Given the description of an element on the screen output the (x, y) to click on. 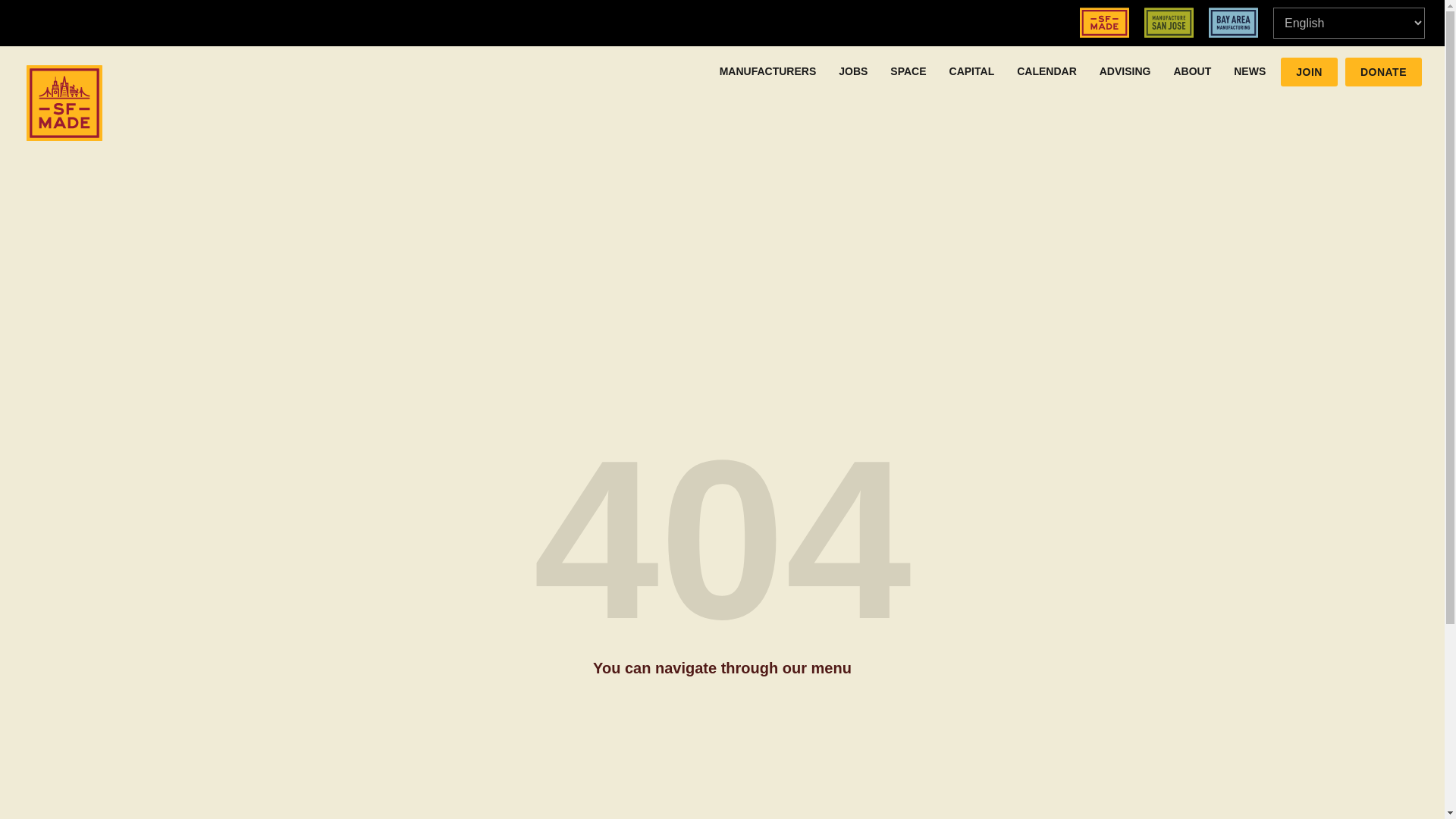
SFMade (1104, 22)
ABOUT (1192, 71)
JOBS (853, 71)
SPACE (908, 71)
Bay Area Manufacturing (1232, 22)
NEWS (1249, 71)
DONATE (1383, 71)
SFMade (63, 102)
Manufacture San Jose (1168, 22)
ADVISING (1124, 71)
